Given the description of an element on the screen output the (x, y) to click on. 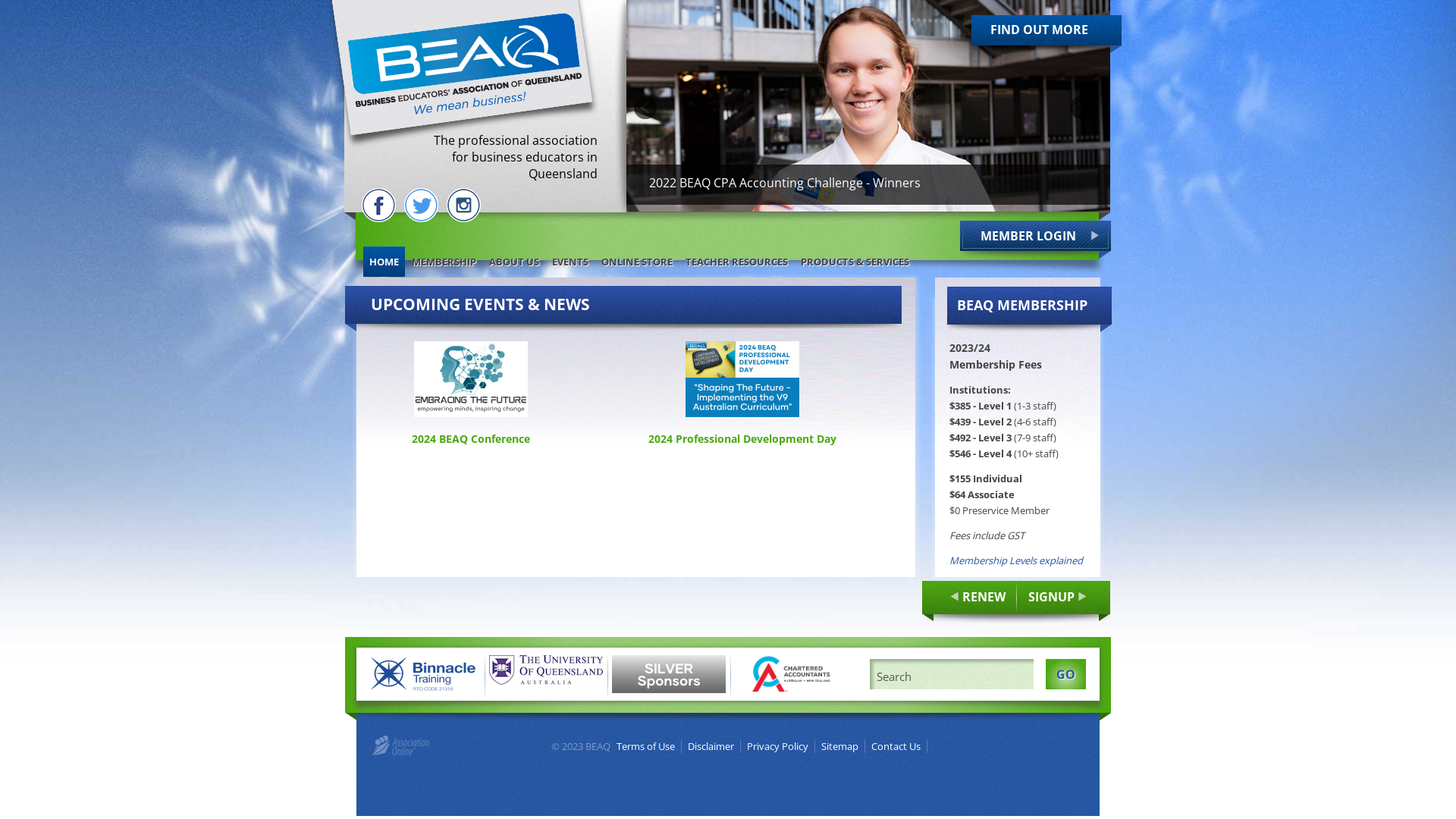
RENEW Element type: text (969, 596)
Sitemap Element type: text (843, 746)
EVENTS Element type: text (570, 261)
SIGNUP Element type: text (1052, 596)
ONLINE STORE Element type: text (636, 261)
MEMBER LOGIN Element type: text (1035, 239)
ABOUT US Element type: text (514, 261)
Business Educators' Association of Queensland Inc Element type: hover (462, 62)
TEACHER RESOURCES Element type: text (736, 261)
visit https://www.charteredaccountantsanz.com/ Element type: hover (792, 676)
FIND OUT MORE Element type: text (1046, 34)
visit https://www.binnacletraining.com.au/ Element type: hover (423, 676)
Membership Levels explained Element type: text (1015, 560)
Terms of Use Element type: text (648, 746)
FIND OUT MORE Element type: text (551, 34)
MEMBERSHIP Element type: text (443, 261)
PRODUCTS & SERVICES Element type: text (854, 261)
HOME Element type: text (383, 261)
Contact Us Element type: text (899, 746)
Disclaimer Element type: text (713, 746)
Privacy Policy Element type: text (780, 746)
